Given the description of an element on the screen output the (x, y) to click on. 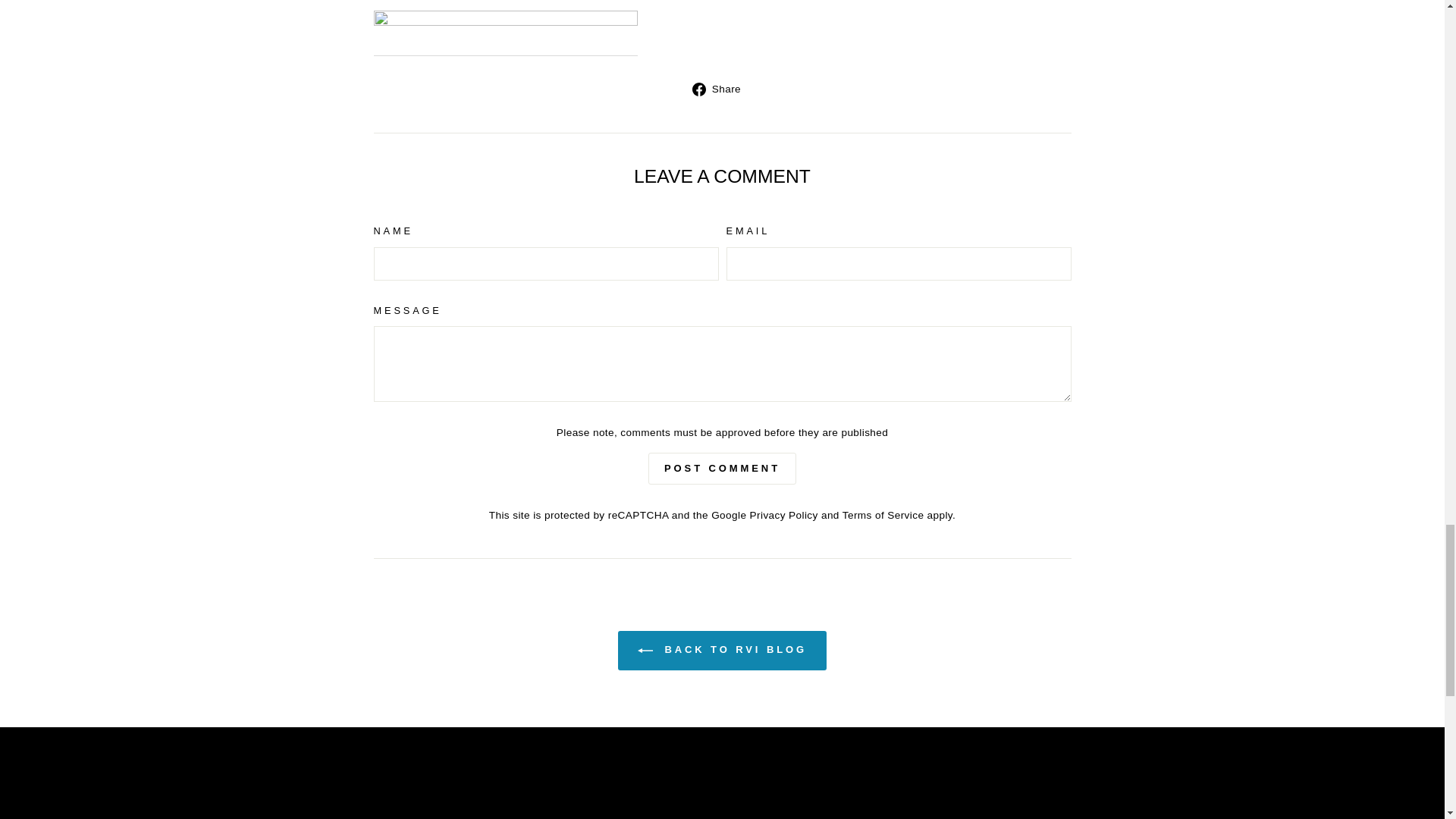
ICON-LEFT-ARROW (644, 650)
Share on Facebook (722, 88)
RVi Flat Towing Products  (504, 33)
